Given the description of an element on the screen output the (x, y) to click on. 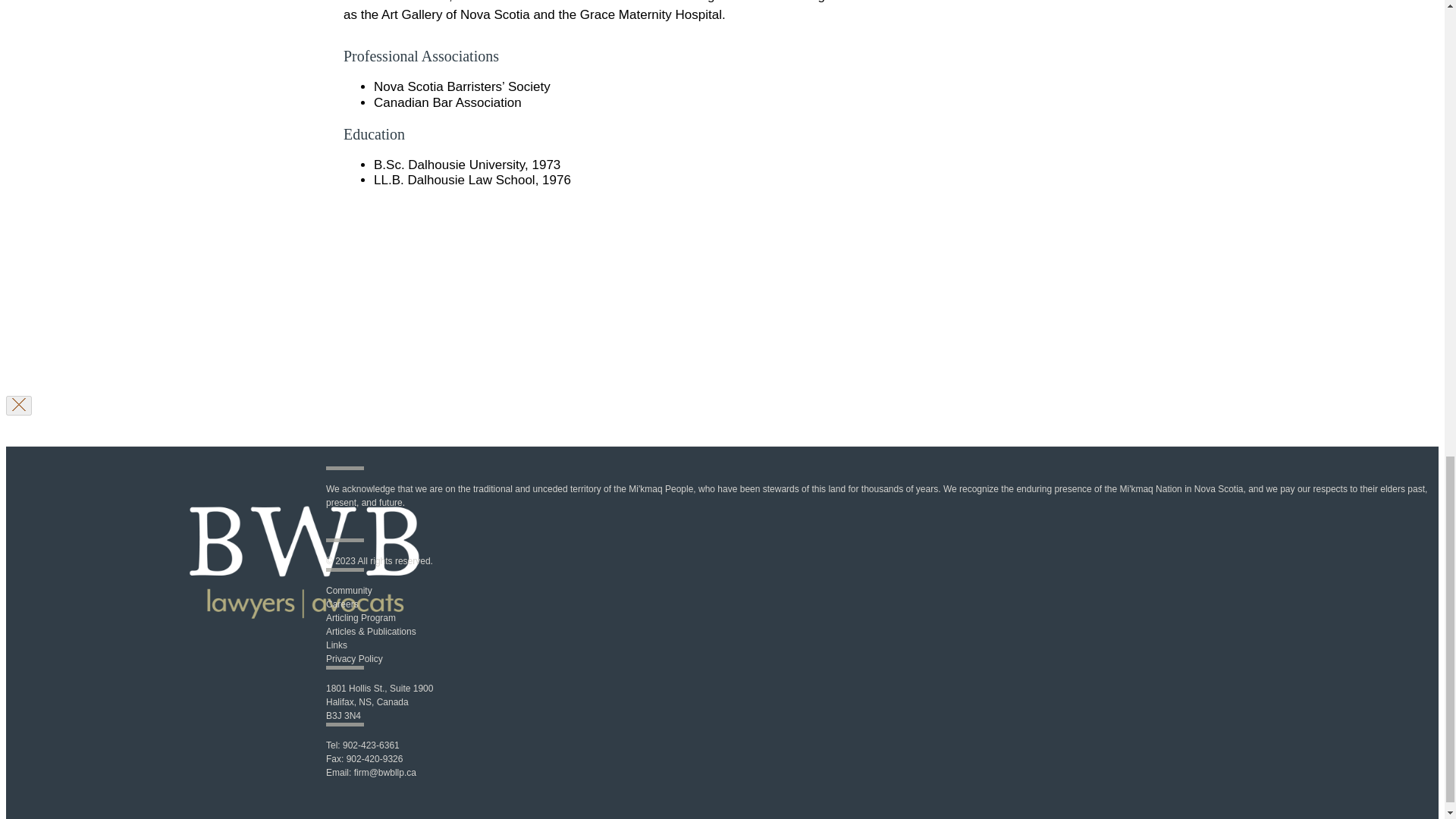
Articling Program (361, 617)
Careers (342, 603)
Links (336, 644)
Community (349, 590)
Privacy Policy (354, 658)
